Given the description of an element on the screen output the (x, y) to click on. 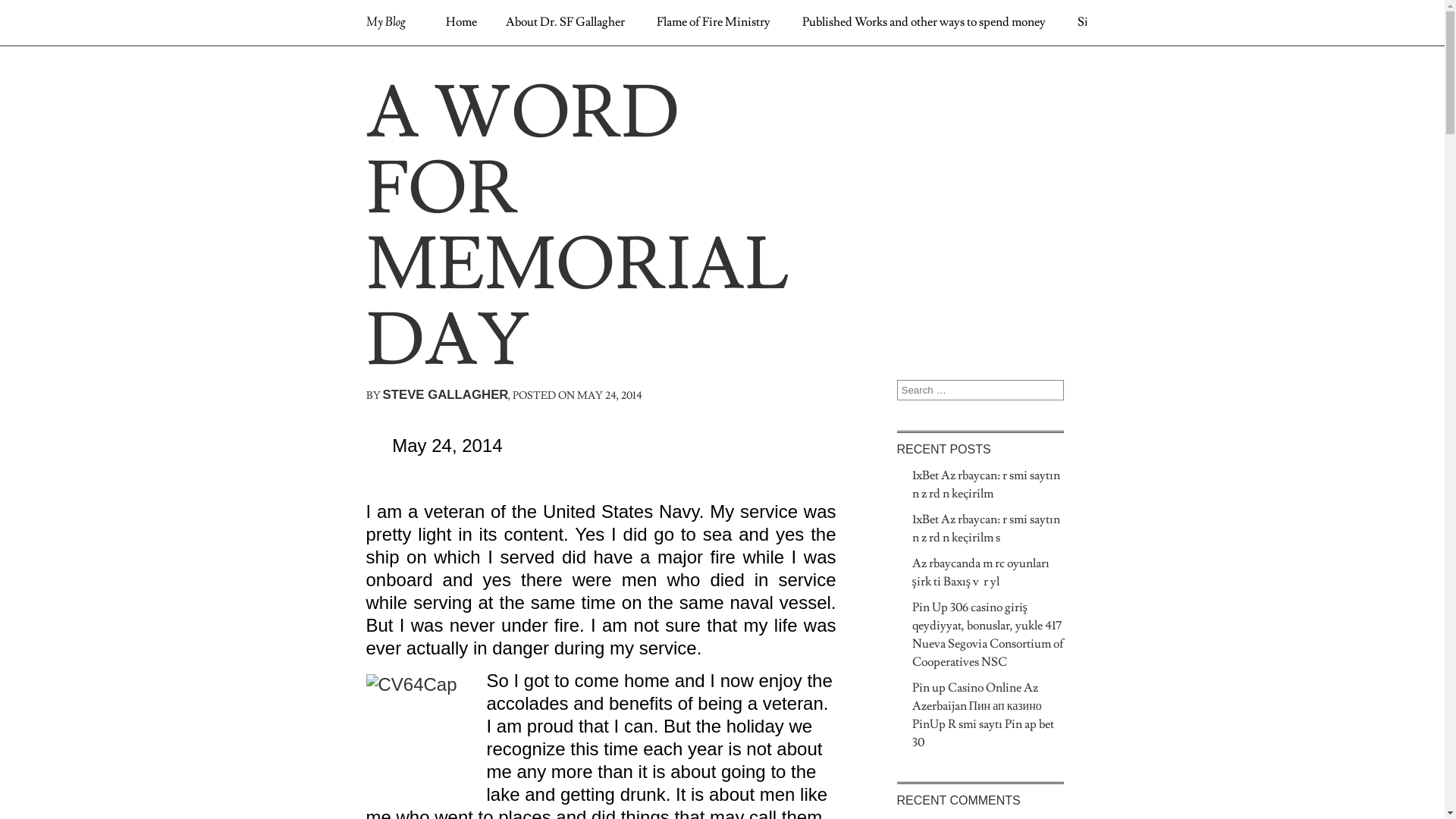
Home Element type: text (460, 21)
STEVE GALLAGHER Element type: text (445, 394)
Search Element type: text (23, 12)
HOME Element type: text (405, 65)
Flame of Fire Ministry Element type: text (713, 21)
Site Terms Element type: text (1104, 21)
SITE TERMS Element type: text (1021, 65)
PUBLISHED WORKS AND OTHER WAYS TO SPEND MONEY Element type: text (848, 65)
About Dr. SF Gallagher Element type: text (565, 21)
ABOUT DR. SF GALLAGHER Element type: text (505, 65)
FLAME OF FIRE MINISTRY Element type: text (647, 65)
MAY 24, 2014 Element type: text (609, 395)
Published Works and other ways to spend money Element type: text (923, 21)
